Given the description of an element on the screen output the (x, y) to click on. 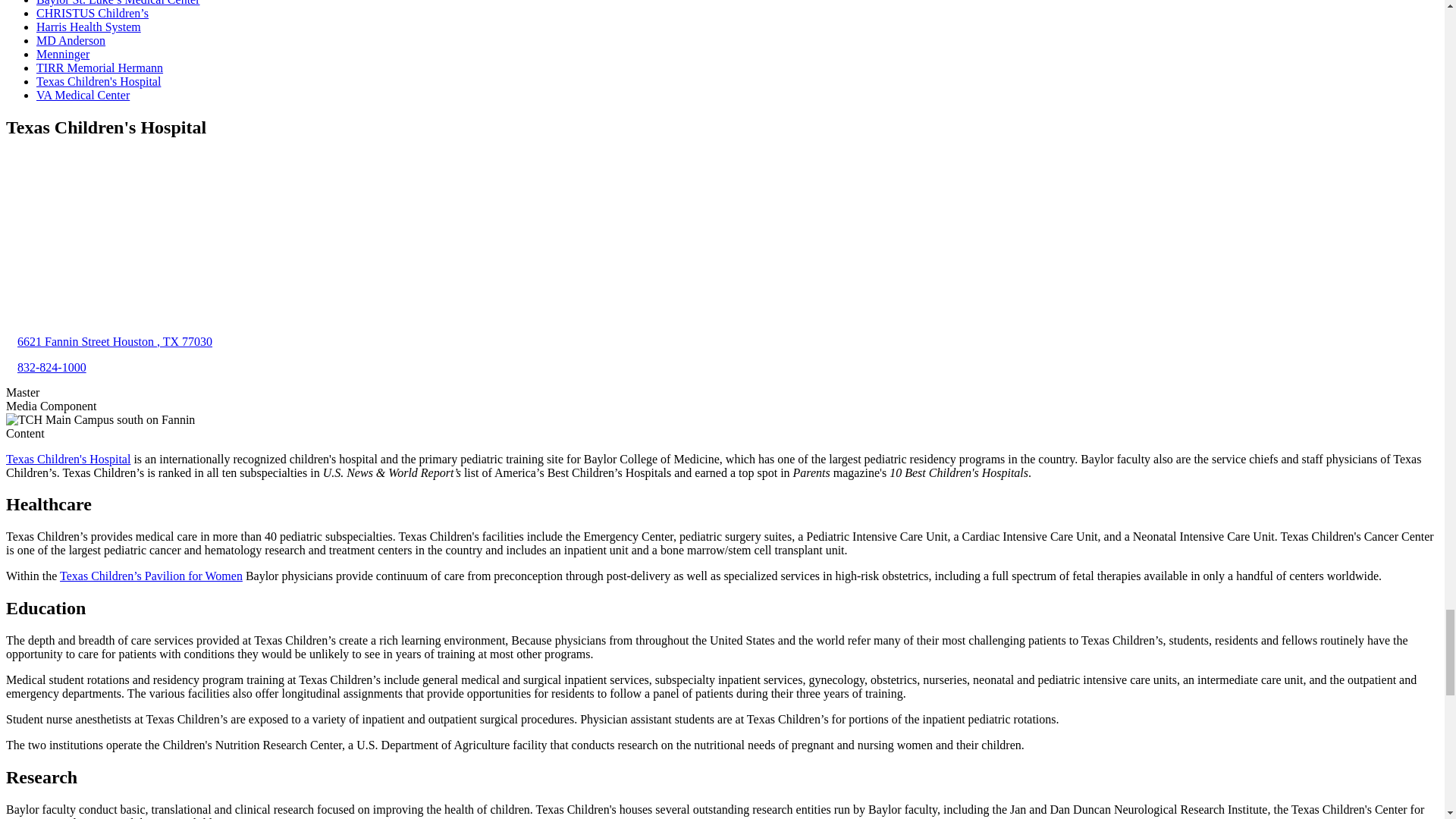
BCM Education at Harris Health System (88, 26)
TCH Main Campus south on Fannin (100, 419)
